Given the description of an element on the screen output the (x, y) to click on. 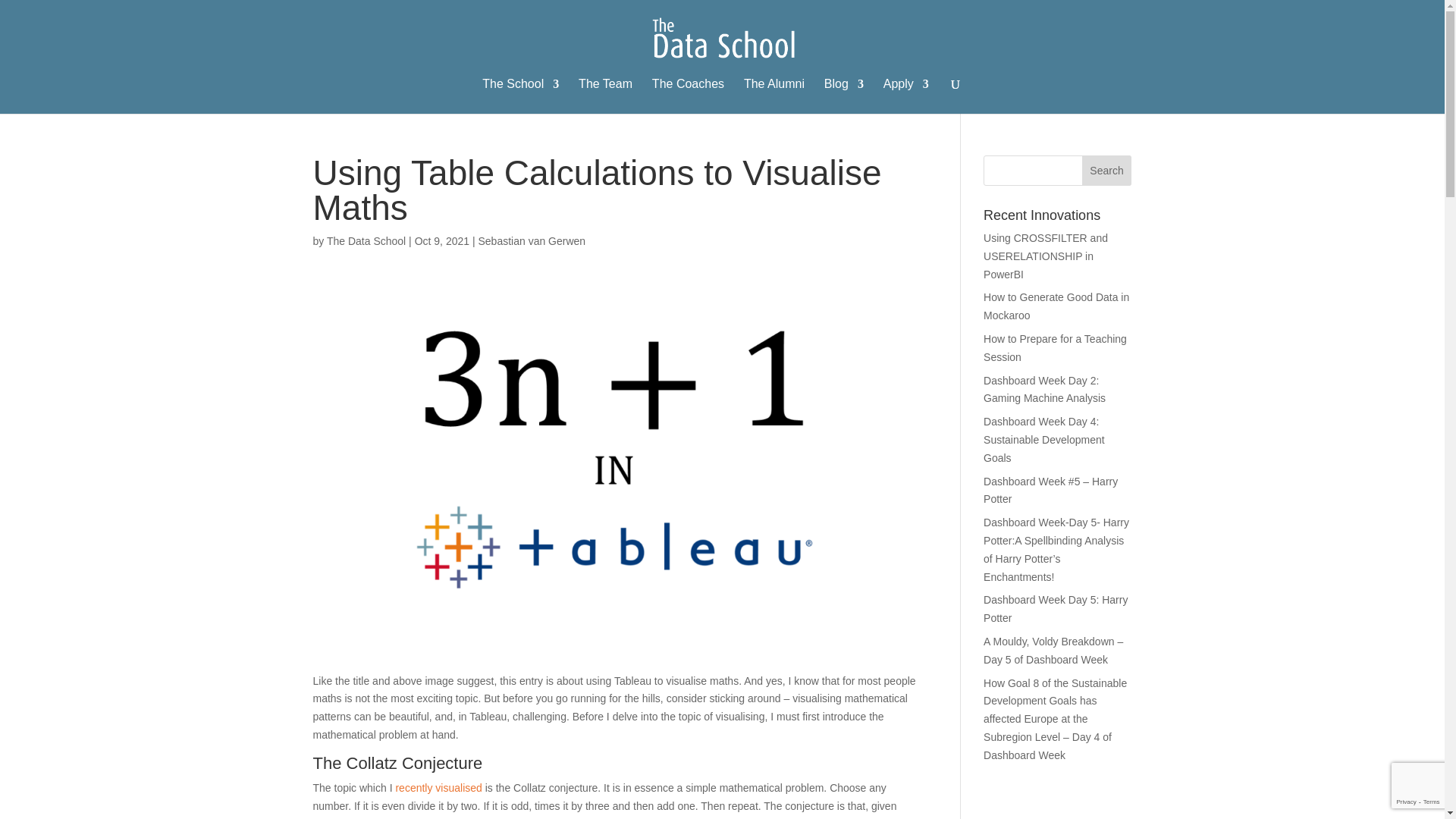
Dashboard Week Day 4: Sustainable Development Goals (1044, 439)
How to Prepare for a Teaching Session (1055, 347)
The Data School (366, 241)
Search (1106, 170)
Sebastian van Gerwen (531, 241)
Apply (905, 95)
How to Generate Good Data in Mockaroo (1056, 306)
recently visualised (437, 787)
Posts by The Data School (366, 241)
Dashboard Week Day 2: Gaming Machine Analysis (1044, 389)
Blog (843, 95)
The Team (604, 95)
The School (520, 95)
The Coaches (687, 95)
Search (1106, 170)
